Given the description of an element on the screen output the (x, y) to click on. 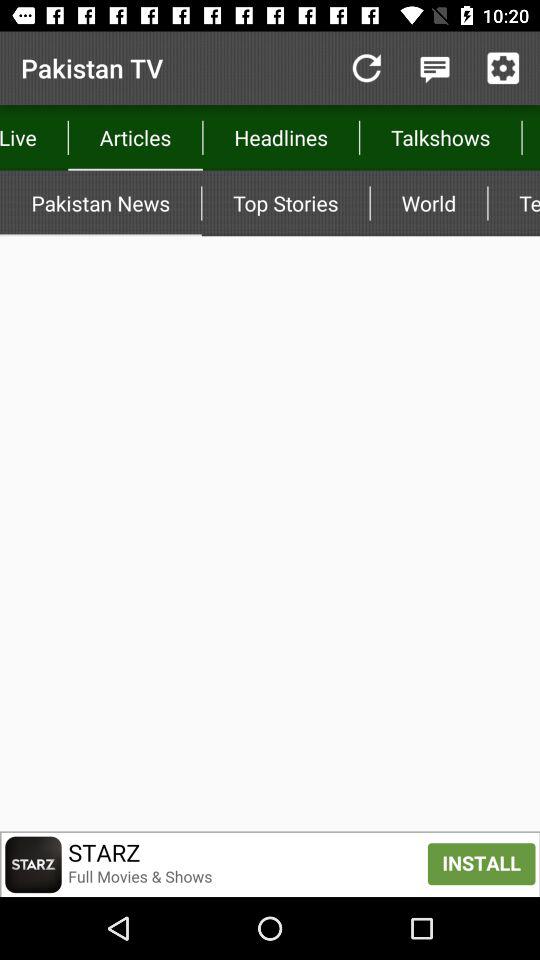
open the icon to the right of talkshows item (530, 137)
